Given the description of an element on the screen output the (x, y) to click on. 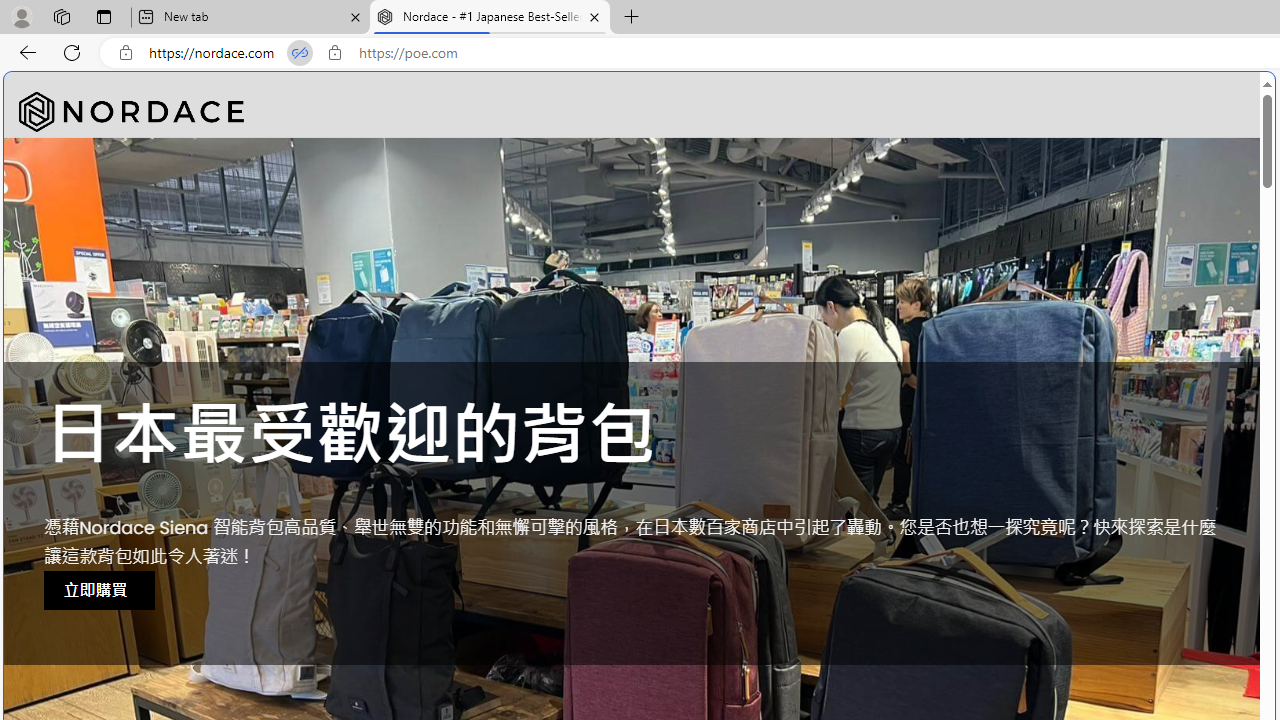
Tabs in split screen (299, 53)
